Given the description of an element on the screen output the (x, y) to click on. 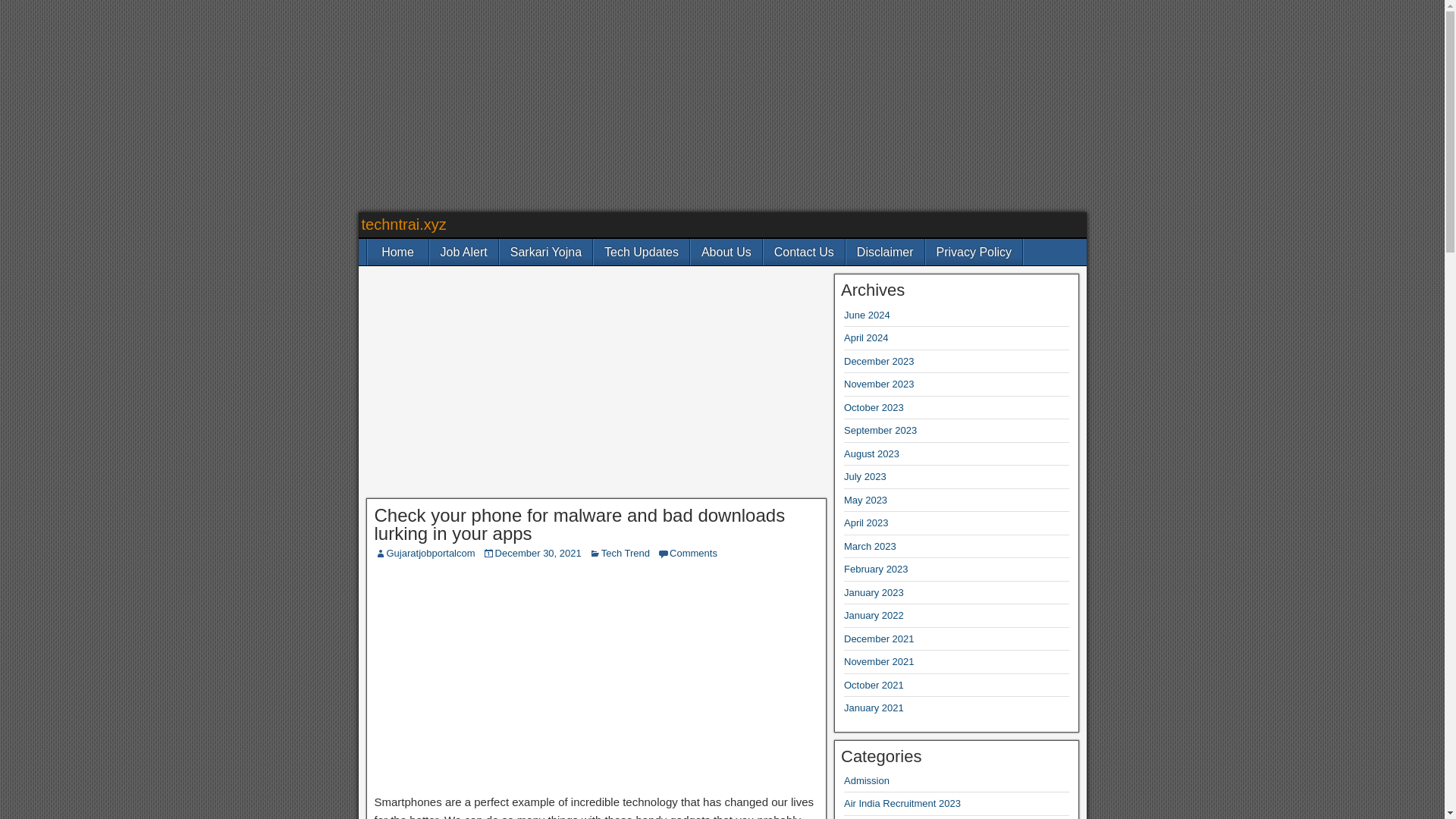
November 2021 (879, 661)
January 2023 (874, 592)
Contact Us (803, 252)
techntrai.xyz (403, 224)
December 2023 (879, 360)
March 2023 (870, 546)
Advertisement (596, 680)
Advertisement (596, 386)
January 2022 (874, 614)
February 2023 (876, 568)
Job Alert (463, 252)
Disclaimer (884, 252)
July 2023 (865, 476)
Sarkari Yojna (545, 252)
Privacy Policy (974, 252)
